Given the description of an element on the screen output the (x, y) to click on. 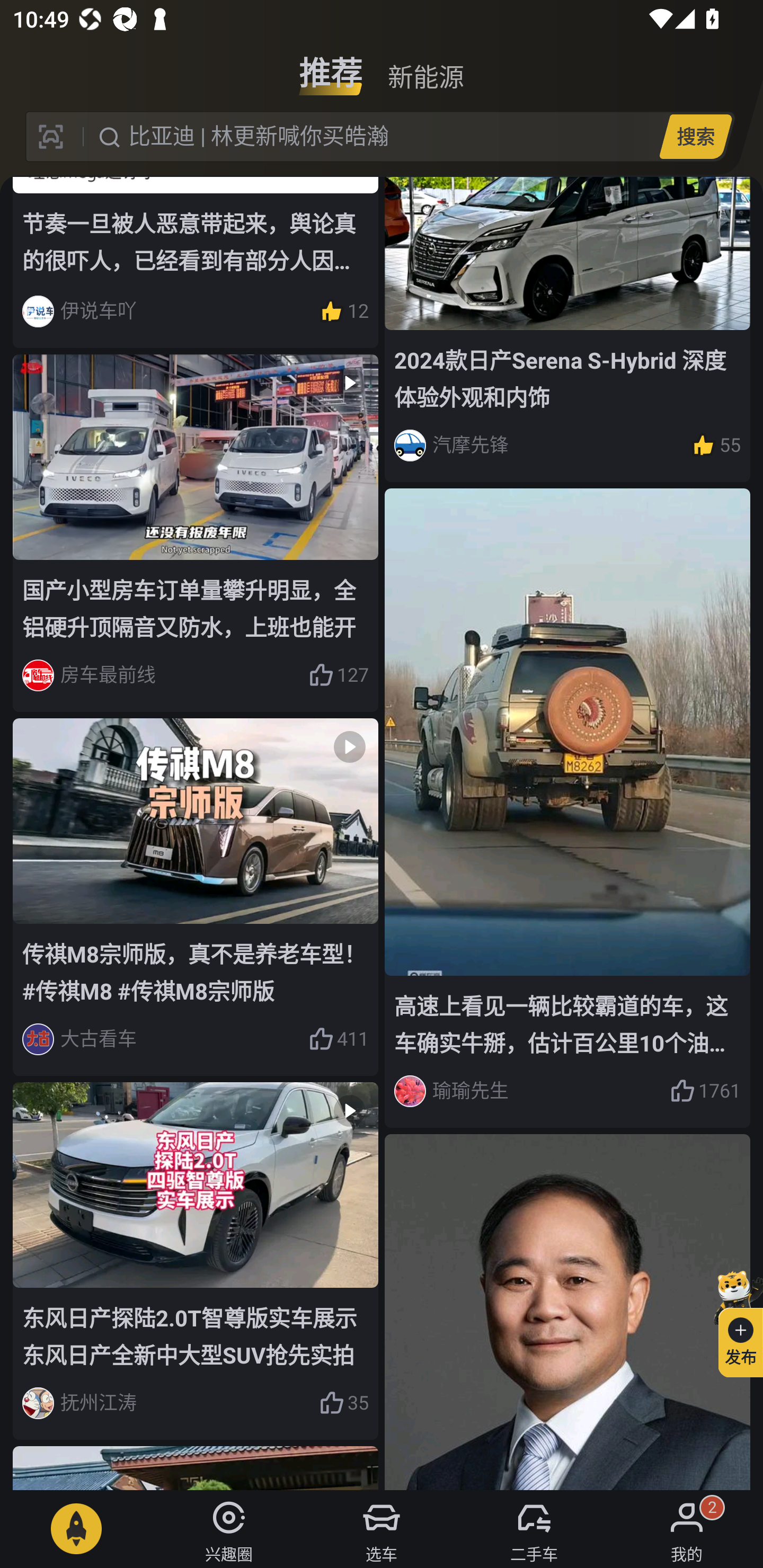
推荐 (330, 65)
新能源 (425, 65)
搜索 (695, 136)
2024款日产Serena S-Hybrid 深度体验外观和内饰 汽摩先锋 55 (567, 329)
12 (343, 310)
 国产小型房车订单量攀升明显，全铝硬升顶隔音又防水，上班也能开 房车最前线 127 (195, 532)
55 (715, 444)
高速上看见一辆比较霸道的车，这车确实牛掰，估计百公里10个油不够用。 瑜瑜先生 1761 (567, 807)
127 (338, 675)
 传祺M8宗师版，真不是养老车型！#传祺M8 #传祺M8宗师版 大古看车 411 (195, 896)
411 (338, 1039)
1761 (704, 1090)
 东风日产探陆2.0T智尊版实车展示 东风日产全新中大型SUV抢先实拍 抚州江涛 35 (195, 1260)
发布 (732, 1321)
35 (343, 1402)
 兴趣圈 (228, 1528)
 选车 (381, 1528)
 二手车 (533, 1528)
 我的 (686, 1528)
